Given the description of an element on the screen output the (x, y) to click on. 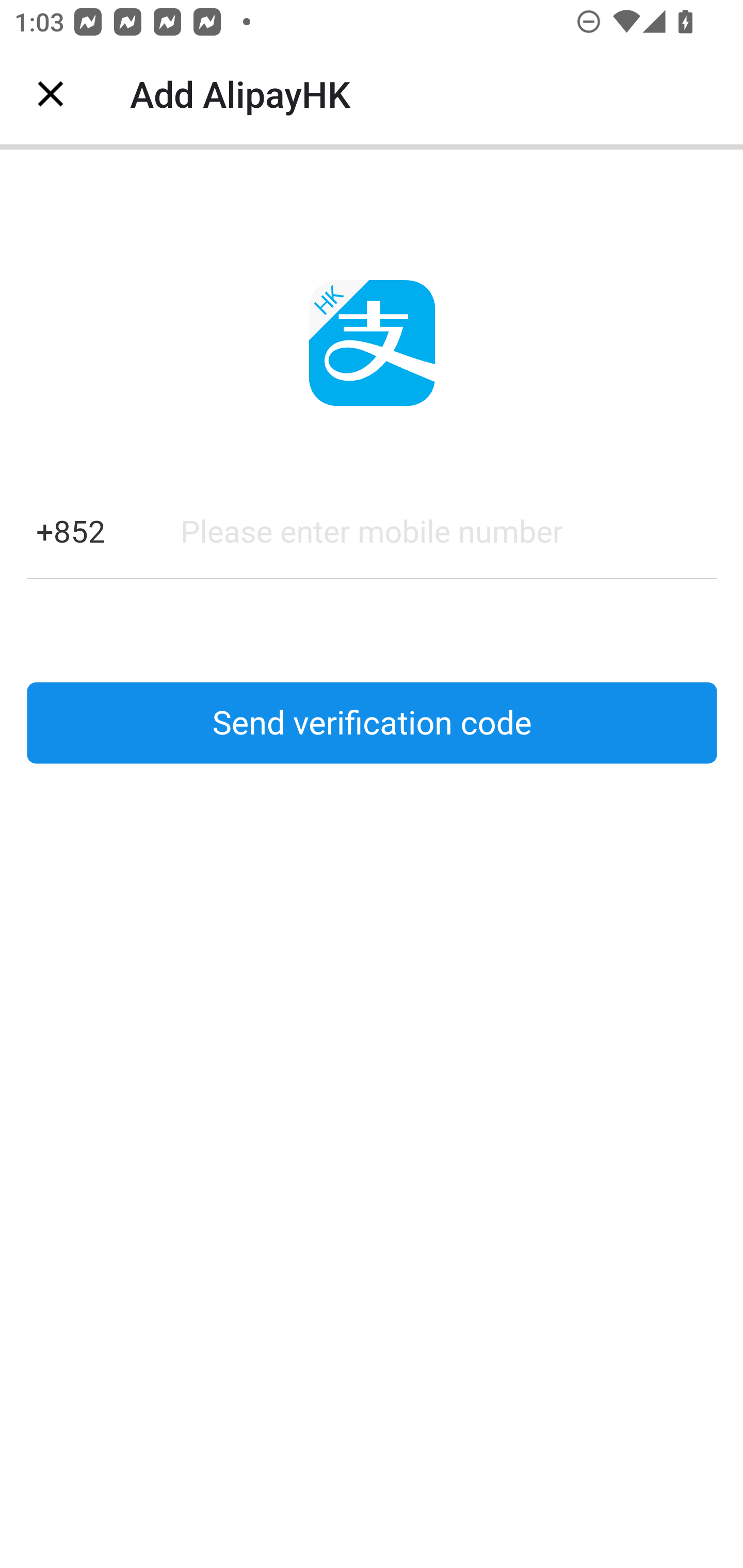
Navigate up (50, 93)
Send verification code (371, 723)
